Given the description of an element on the screen output the (x, y) to click on. 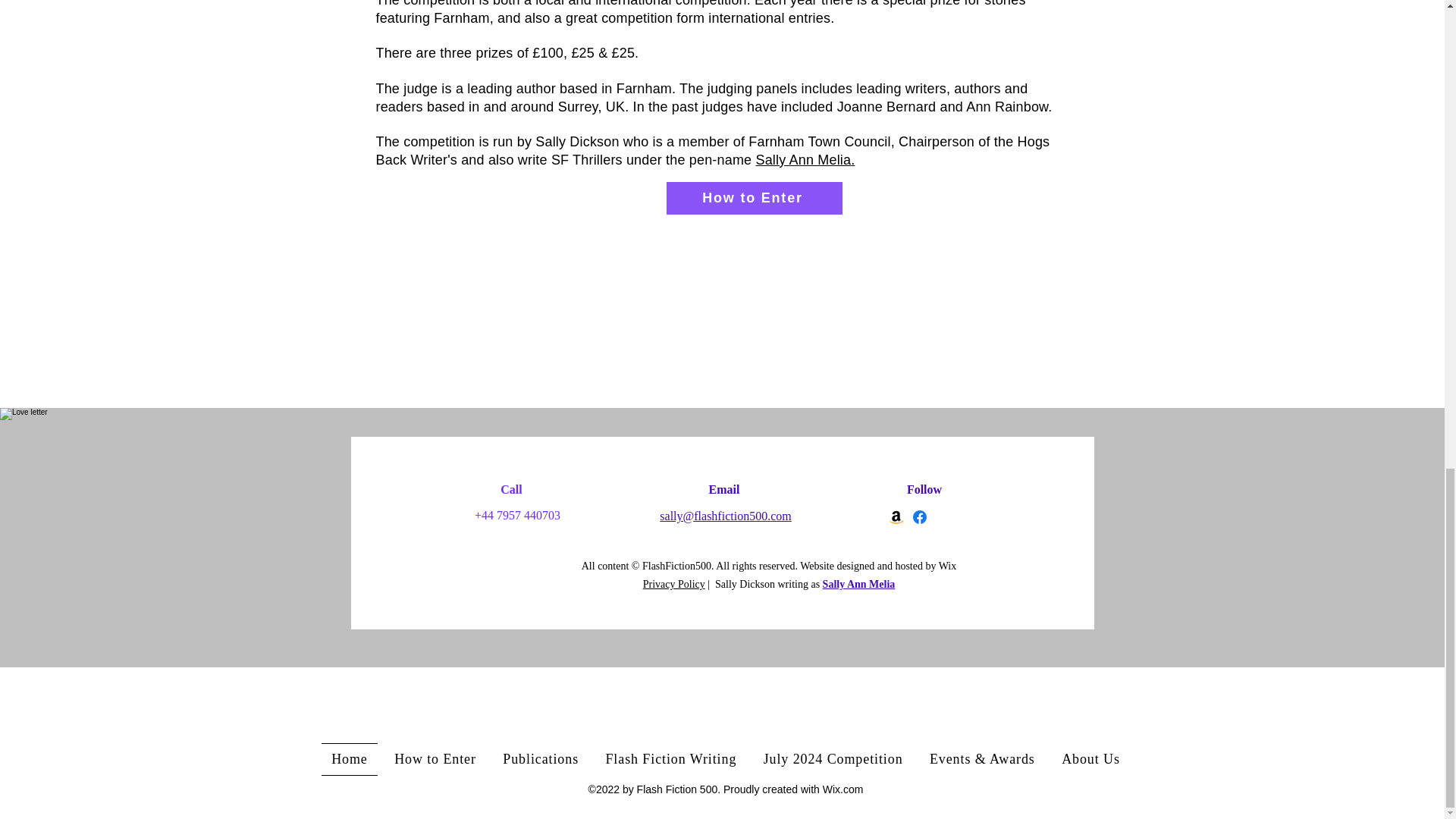
Home (349, 758)
Sally Ann Melia. (804, 159)
July 2024 Competition (832, 758)
Publications (541, 758)
How to Enter (435, 758)
Flash Fiction Writing (670, 758)
Sally Ann Melia (858, 583)
How to Enter (753, 197)
Privacy Policy (673, 583)
